Given the description of an element on the screen output the (x, y) to click on. 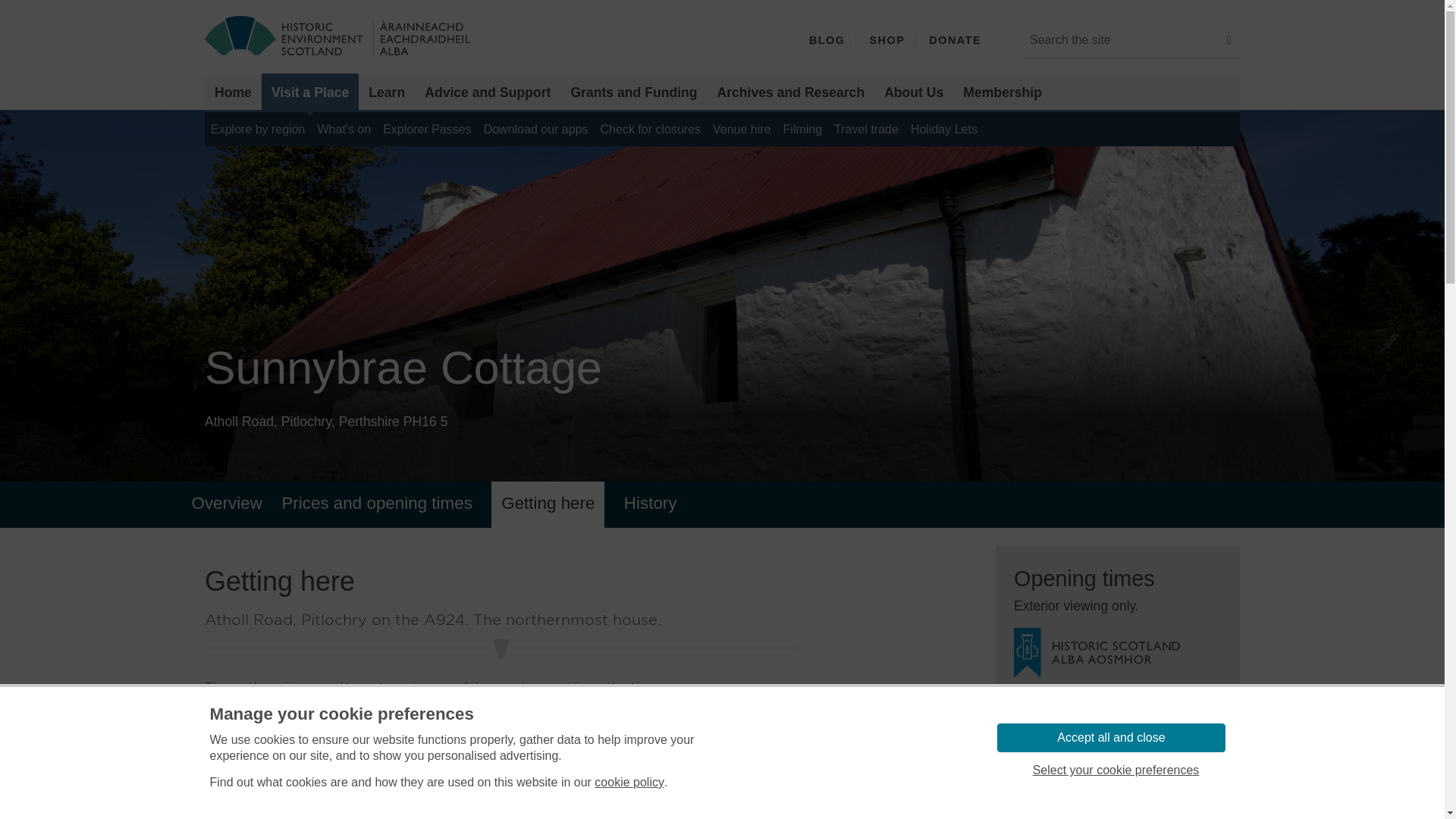
Filming (802, 129)
Home (233, 92)
Holiday Lets (944, 129)
Explore by region (258, 129)
Download our apps (535, 129)
Select your cookie preferences (1114, 770)
Travel trade (866, 129)
Advice and Support (487, 92)
What's on (344, 129)
Learn (386, 92)
